Given the description of an element on the screen output the (x, y) to click on. 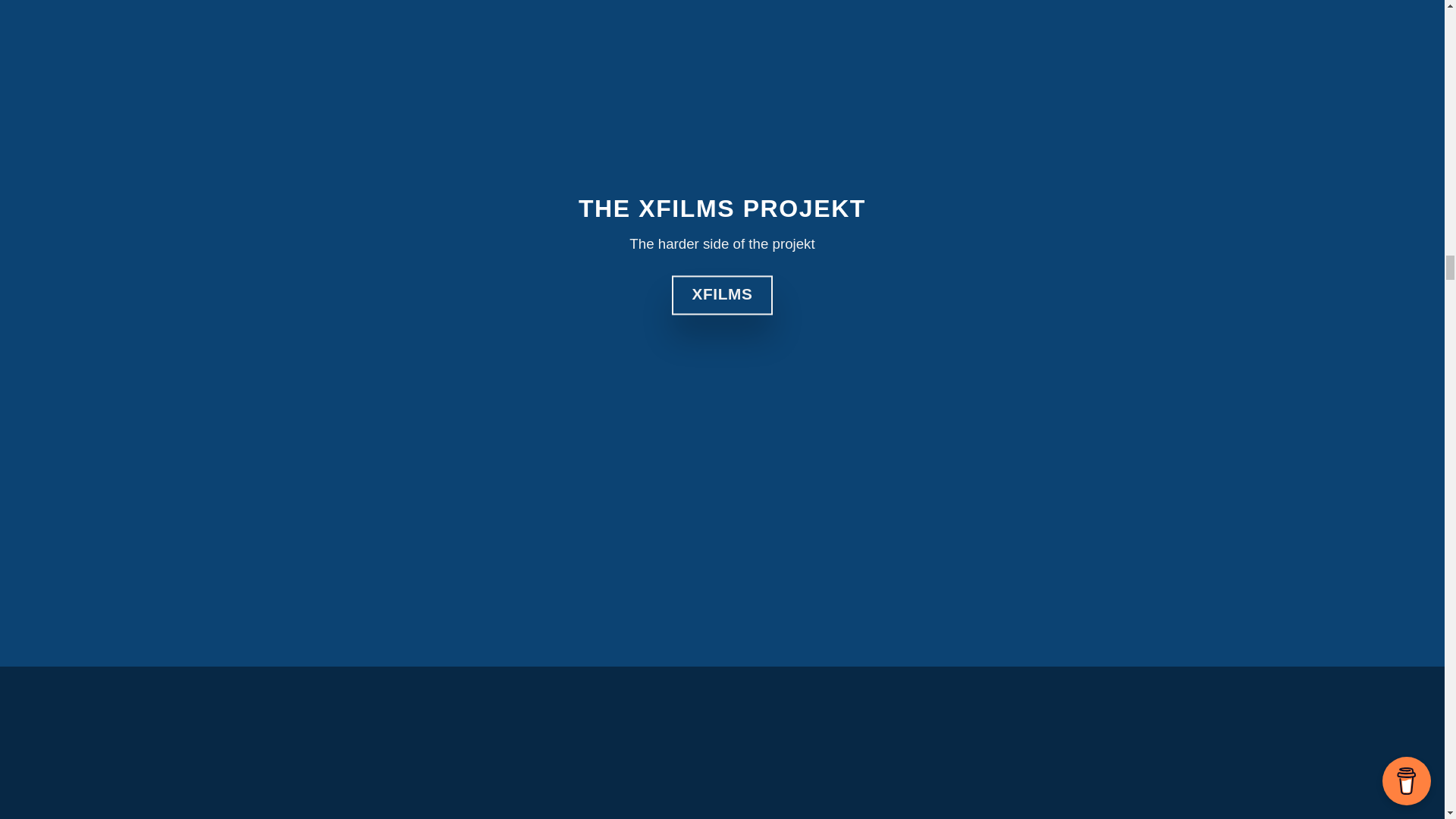
XFILMS (722, 294)
